Given the description of an element on the screen output the (x, y) to click on. 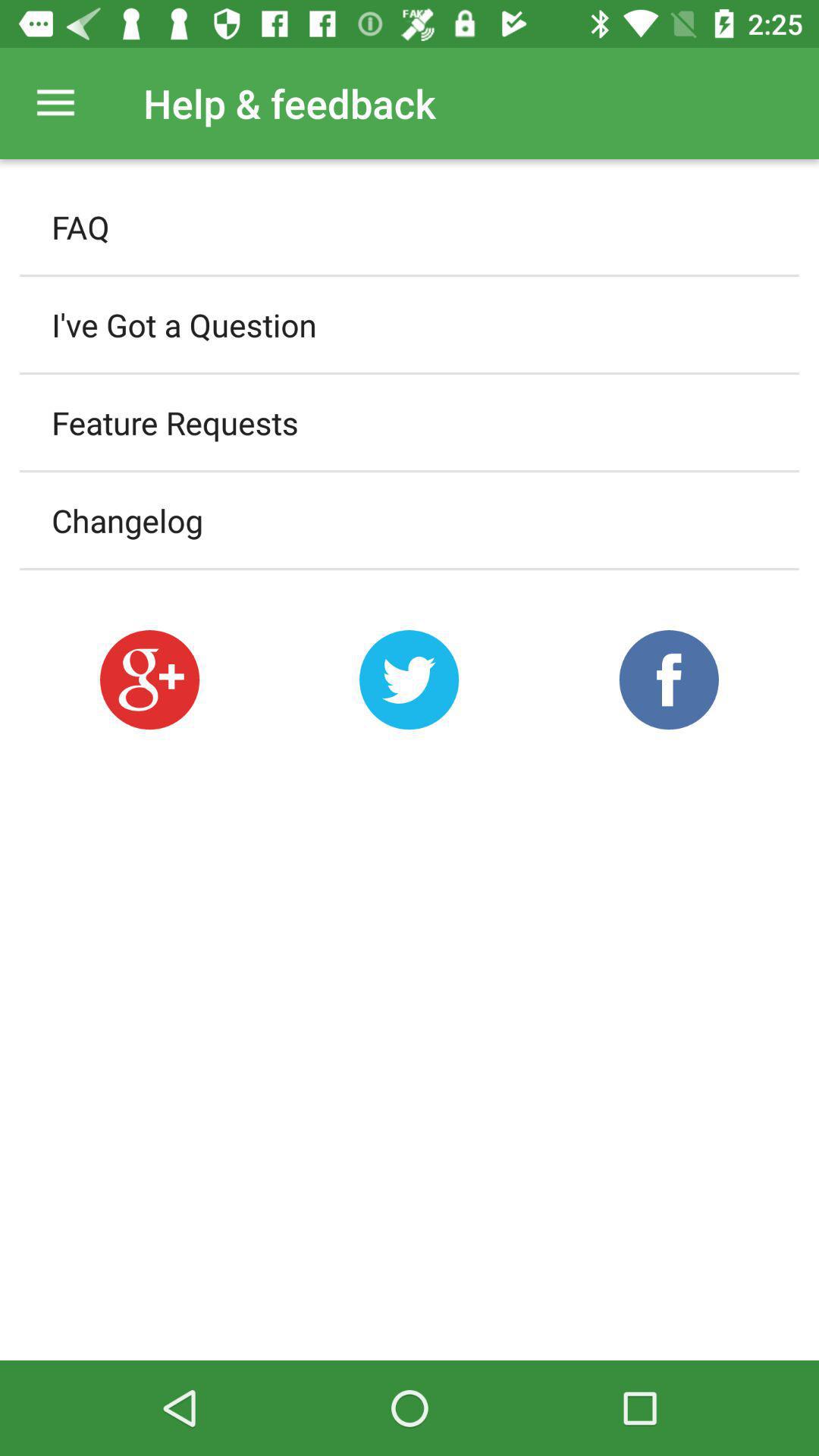
turn on the item above changelog icon (409, 422)
